Given the description of an element on the screen output the (x, y) to click on. 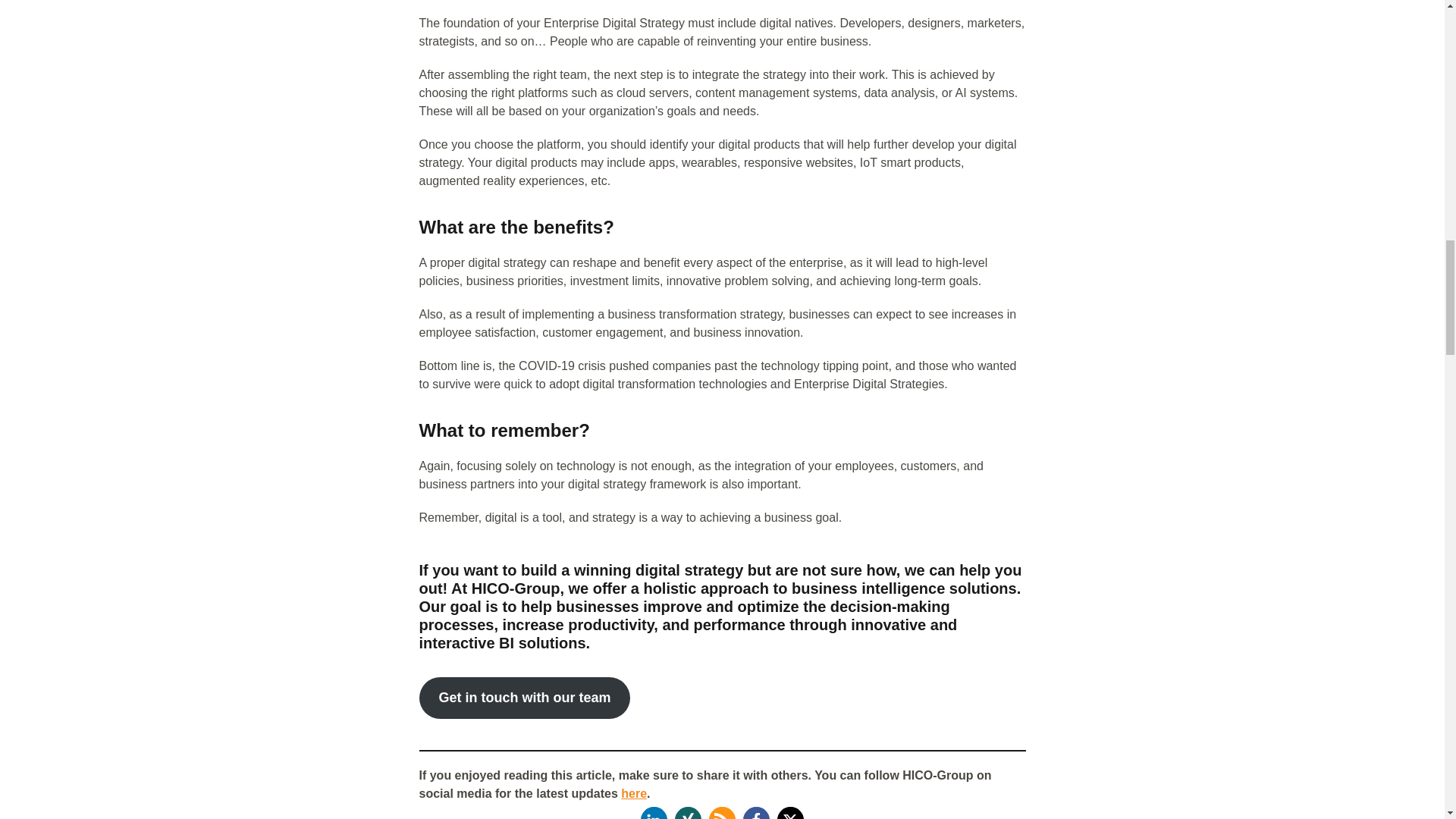
here (633, 793)
Share on XING (688, 812)
Share on LinkedIn (653, 812)
Share on Facebook (756, 812)
RSS feed (722, 812)
Get in touch with our team (524, 698)
